Given the description of an element on the screen output the (x, y) to click on. 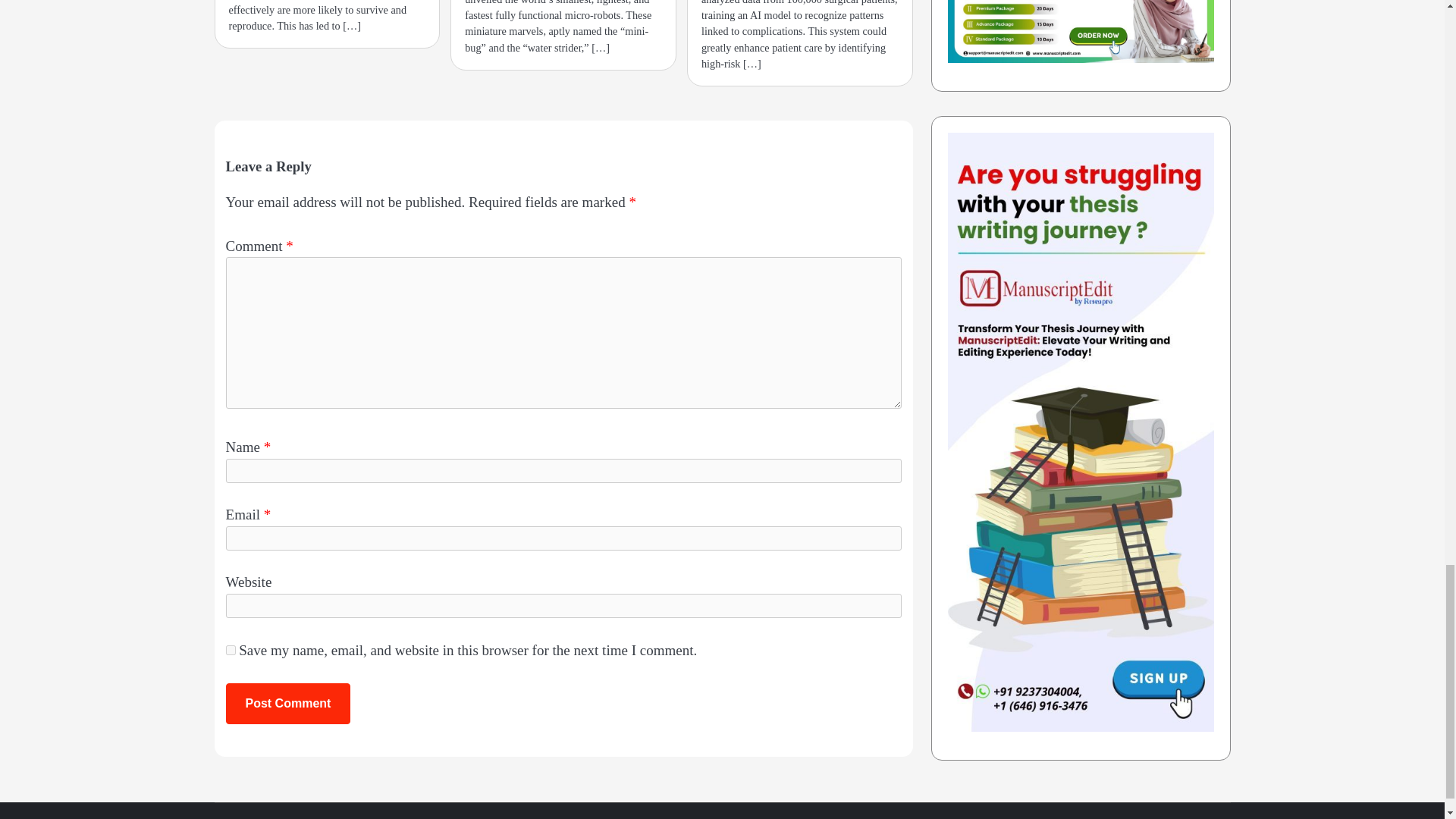
Post Comment (287, 703)
yes (230, 650)
Post Comment (287, 703)
